Given the description of an element on the screen output the (x, y) to click on. 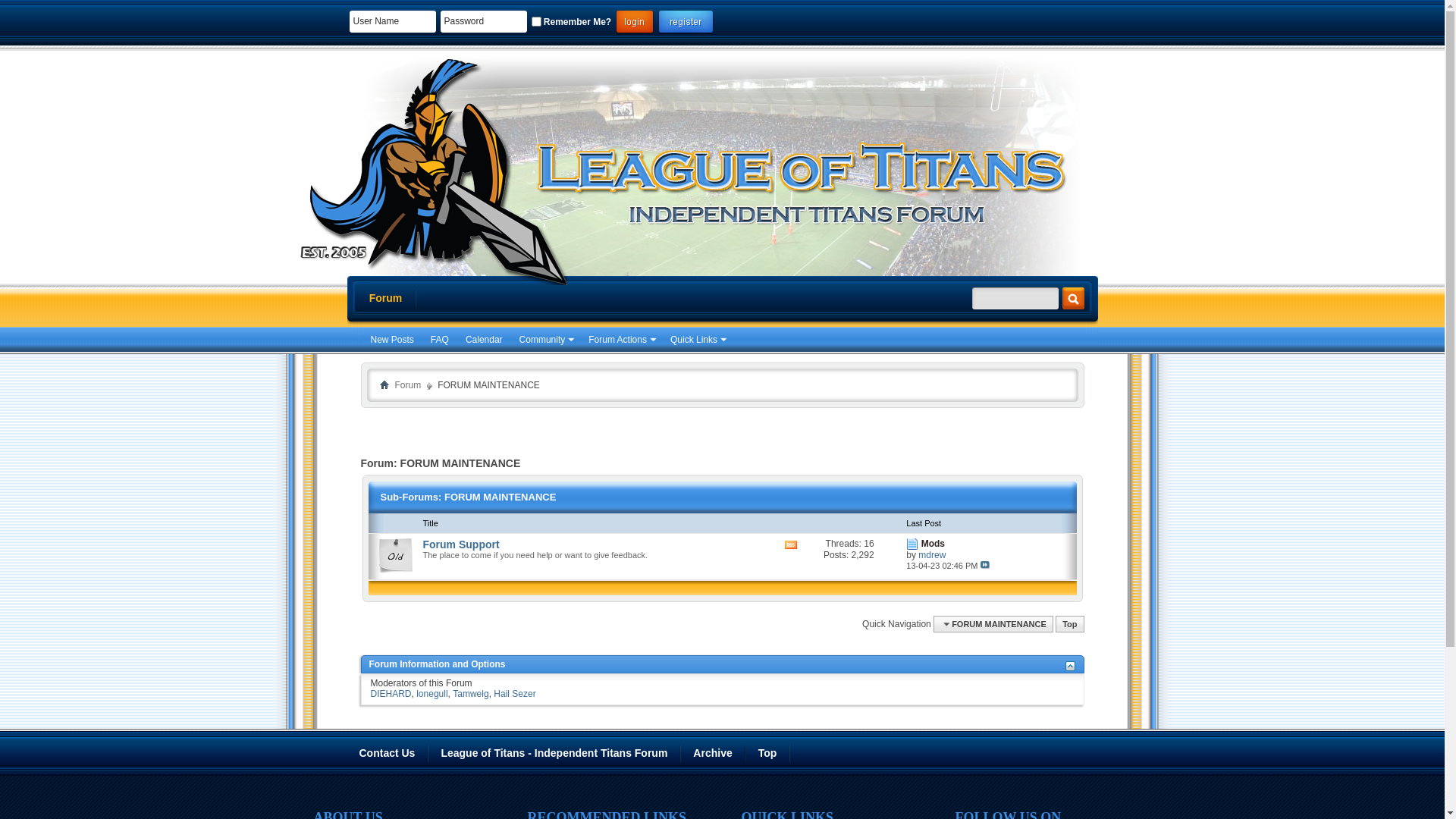
Tamwelg Element type: text (470, 693)
Register Element type: hover (685, 22)
Forum Element type: text (385, 298)
View this forum's RSS feed Element type: text (791, 568)
Home Element type: hover (383, 384)
Community Element type: text (545, 339)
Forum Element type: text (408, 385)
mdrew Element type: text (931, 554)
Hail Sezer Element type: text (514, 693)
Forum Actions Element type: text (620, 339)
DIEHARD Element type: text (390, 693)
Calendar Element type: text (484, 339)
Top Element type: text (768, 753)
New Posts Element type: text (391, 339)
Quick Links Element type: text (696, 339)
League of Titans - Powered by vBulletin Element type: hover (426, 167)
FORUM MAINTENANCE Element type: text (993, 623)
FAQ Element type: text (439, 339)
lonegull Element type: text (431, 693)
Go to last post Element type: hover (984, 564)
Archive Element type: text (712, 753)
League of Titans - Independent Titans Forum Element type: text (554, 753)
Top Element type: text (1069, 623)
Mods Element type: text (932, 543)
Contact Us Element type: text (388, 753)
Forum Support Element type: text (461, 544)
